Given the description of an element on the screen output the (x, y) to click on. 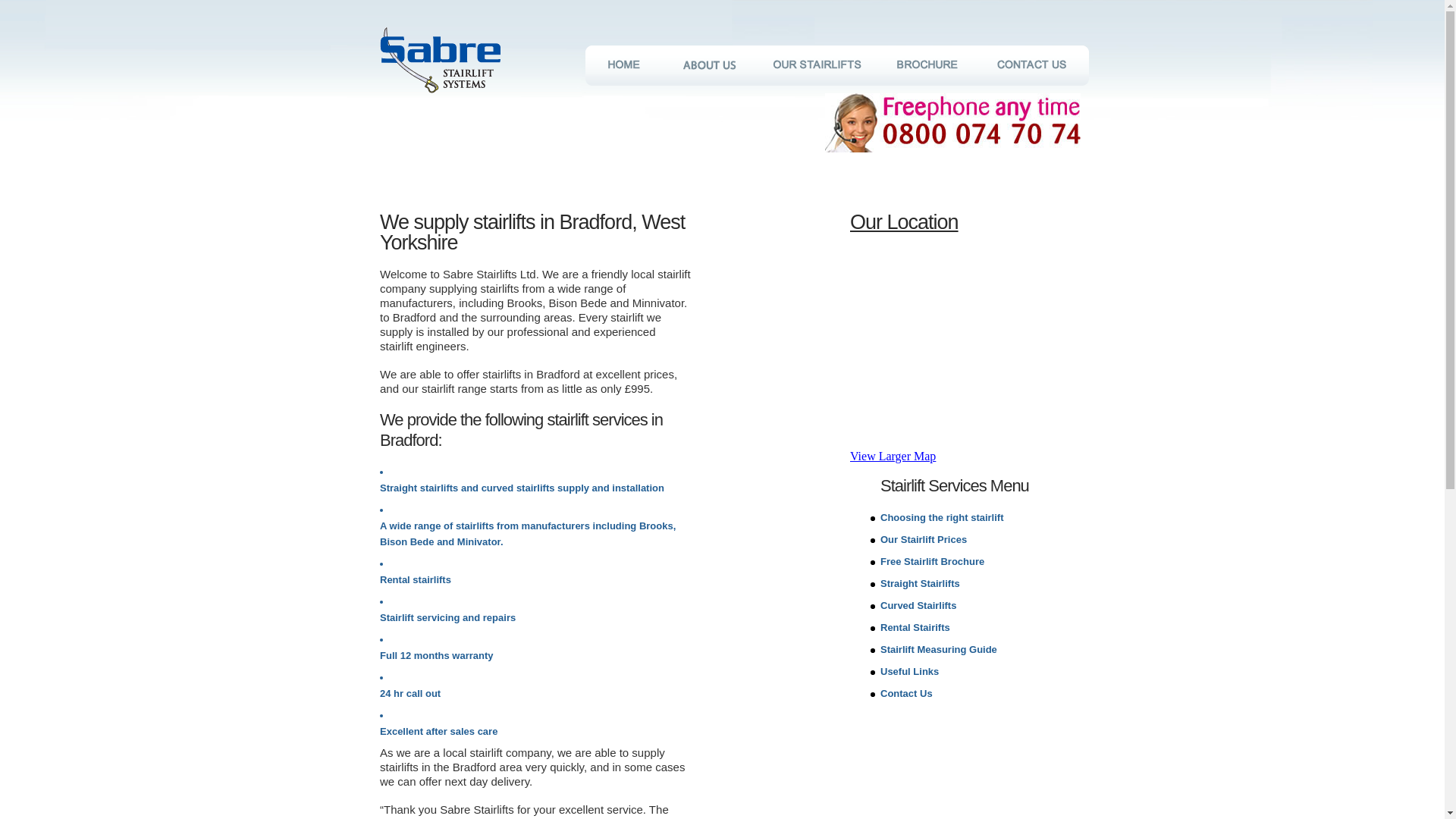
Choosing the right stairlift (942, 517)
Useful Links (909, 671)
Our Stairlift Prices (923, 539)
Free Stairlift Brochure (932, 561)
Rental Stairifts (915, 627)
Bison Bede (406, 541)
Straight Stairlifts (919, 583)
Curved Stairlifts (918, 604)
Rental stairlifts (415, 579)
Stairlift Measuring Guide (938, 649)
Minivator (478, 541)
curved stairlifts (517, 487)
Brooks (655, 525)
Straight stairlifts (419, 487)
Stairlift servicing and repairs (447, 617)
